Given the description of an element on the screen output the (x, y) to click on. 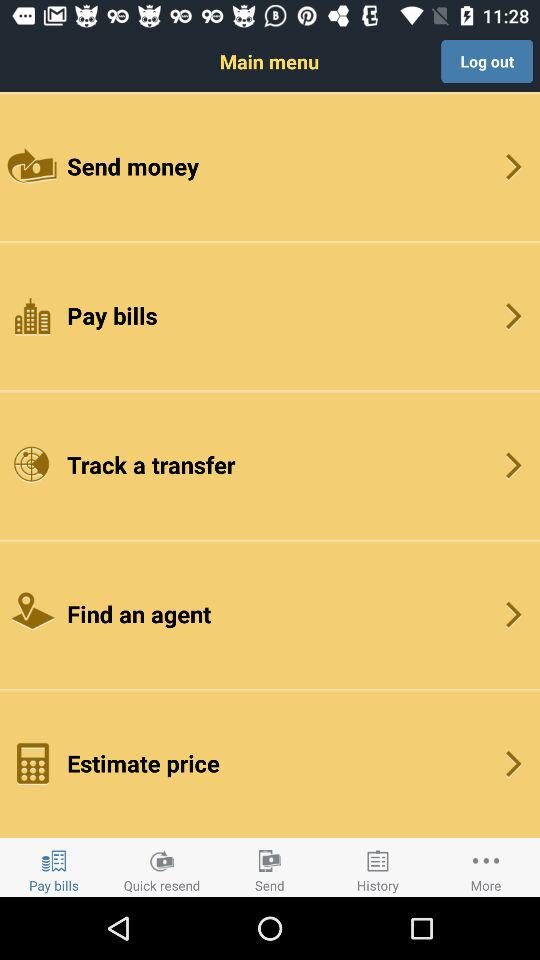
select a icon which is above quick rides (162, 861)
